Given the description of an element on the screen output the (x, y) to click on. 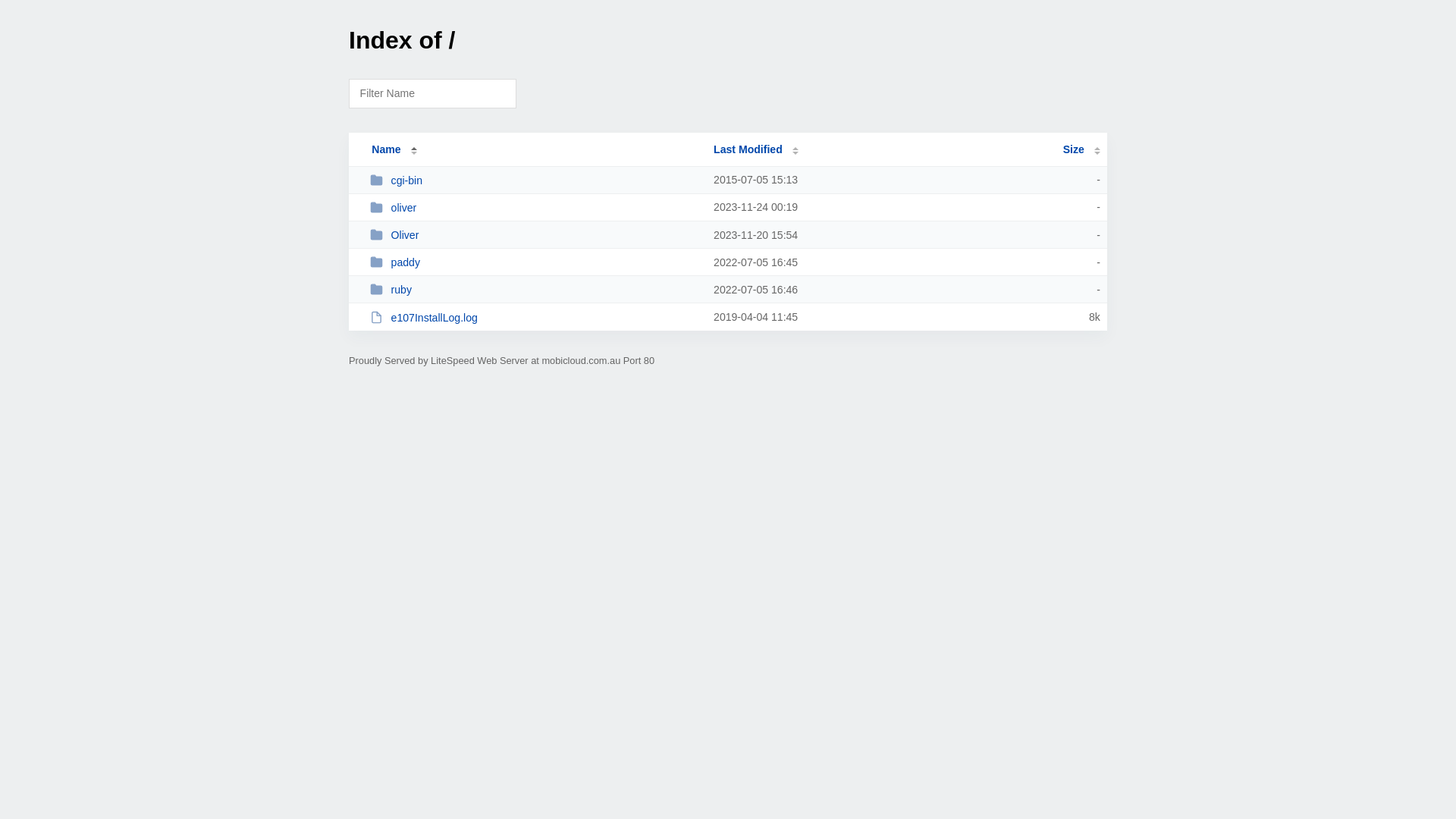
Last Modified Element type: text (755, 149)
Name Element type: text (385, 149)
oliver Element type: text (534, 206)
e107InstallLog.log Element type: text (534, 316)
Size Element type: text (1081, 149)
paddy Element type: text (534, 261)
Oliver Element type: text (534, 234)
cgi-bin Element type: text (534, 179)
ruby Element type: text (534, 288)
